Given the description of an element on the screen output the (x, y) to click on. 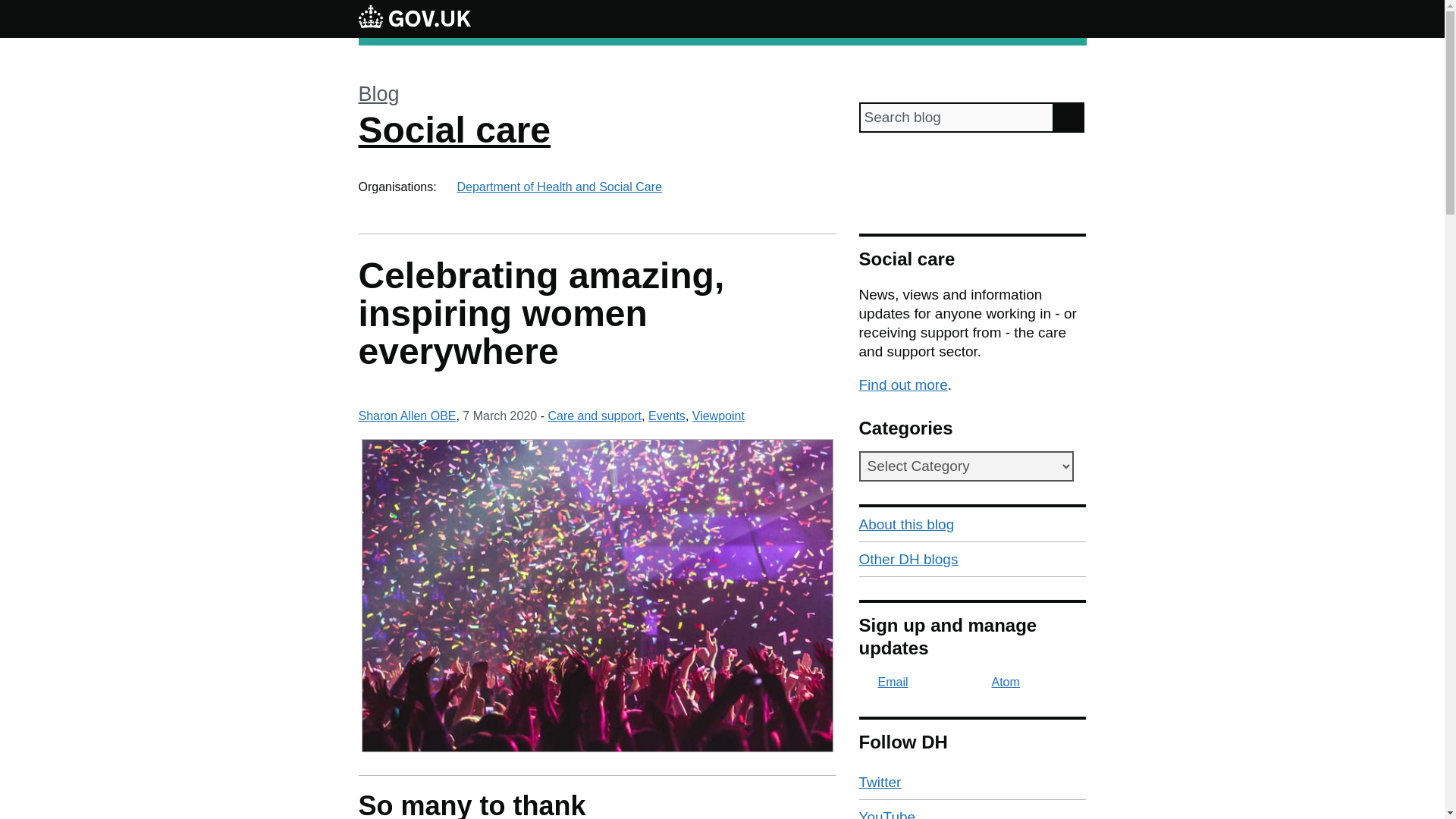
GOV.UK (414, 18)
Email (883, 681)
Viewpoint (718, 415)
Search (1069, 117)
Twitter (972, 782)
Social care (454, 129)
Department of Health and Social Care (559, 186)
Skip to main content (11, 7)
Find out more (903, 384)
YouTube (972, 809)
About this blog (972, 524)
Events (666, 415)
Other DH blogs (972, 559)
Care and support (594, 415)
GOV.UK (414, 15)
